Given the description of an element on the screen output the (x, y) to click on. 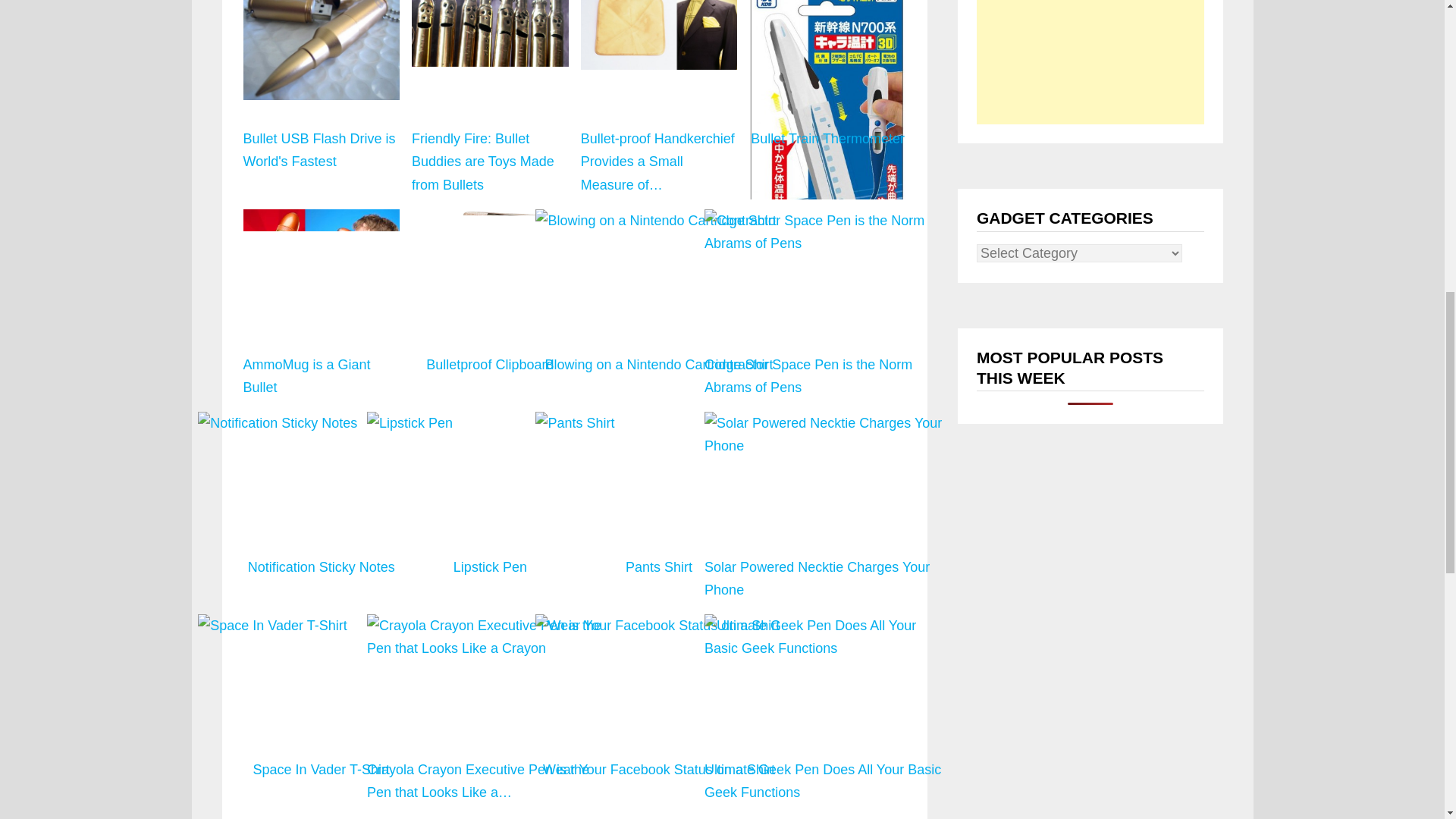
Contractor Space Pen is the Norm Abrams of Pens (827, 304)
Friendly Fire: Bullet Buddies are Toys Made from Bullets (490, 33)
Ultimate Geek Pen Does All Your Basic Geek Functions (827, 708)
Blowing on a Nintendo Cartridge Shirt (658, 304)
Bullet USB Flash Drive is World's Fastest (320, 50)
Pants Shirt (658, 506)
AmmoMug is a Giant Bullet (320, 255)
Lipstick Pen (490, 506)
Solar Powered Necktie Charges Your Phone (827, 506)
Space In Vader T-Shirt (320, 708)
Contractor Space Pen is the Norm Abrams of Pens (827, 232)
Notification Sticky Notes (320, 506)
Wear Your Facebook Status on a Shirt (658, 708)
Blowing on a Nintendo Cartridge Shirt (658, 220)
